Given the description of an element on the screen output the (x, y) to click on. 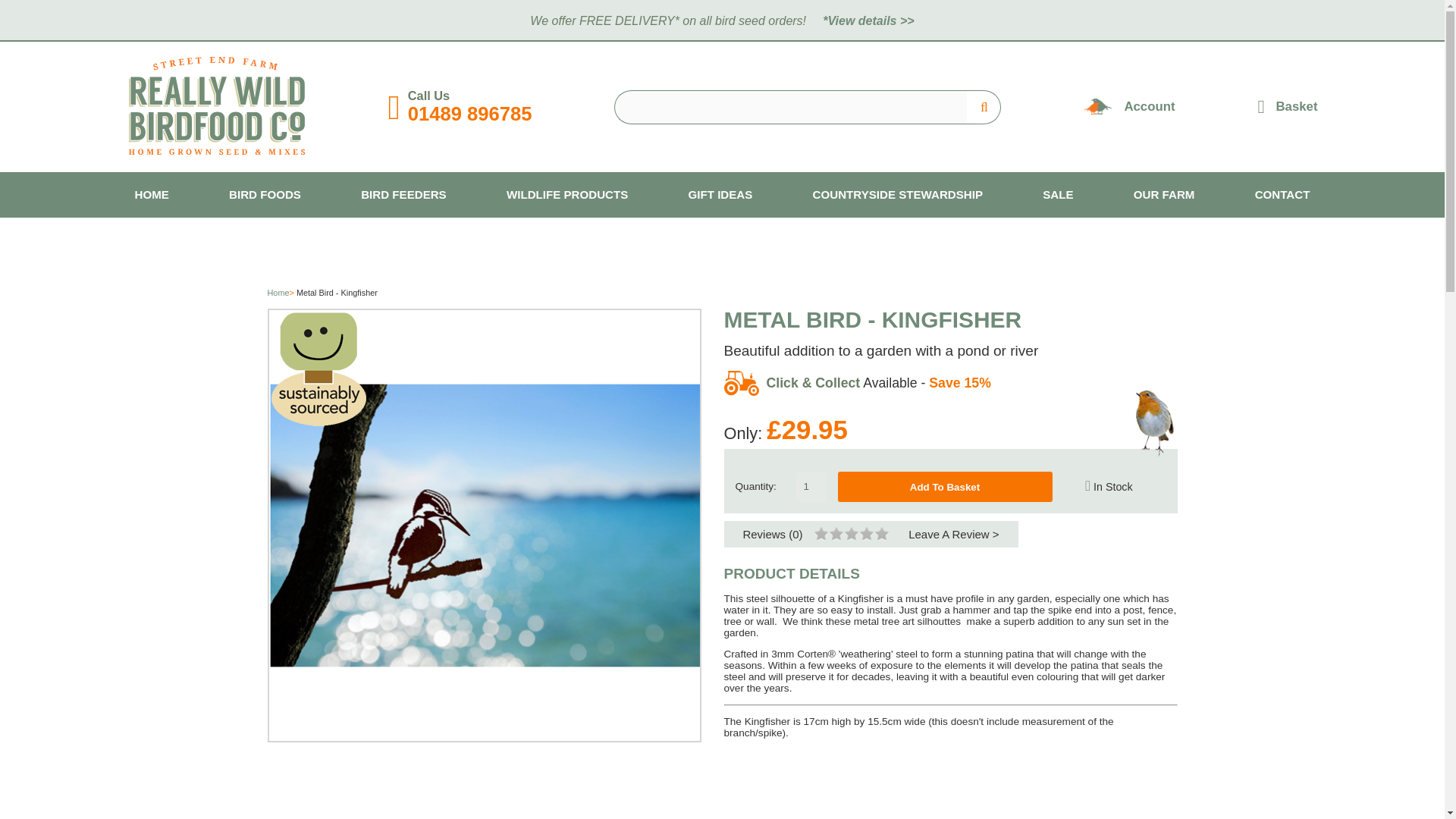
BIRD FEEDERS (403, 194)
01489 896785 (469, 113)
call us today on 01489 896785 (469, 113)
1 (811, 486)
Account (1149, 107)
Bird Foods (264, 194)
BIRD FOODS (264, 194)
HOME (152, 194)
Basket (1287, 106)
Really Wild Bird Food (216, 151)
